Given the description of an element on the screen output the (x, y) to click on. 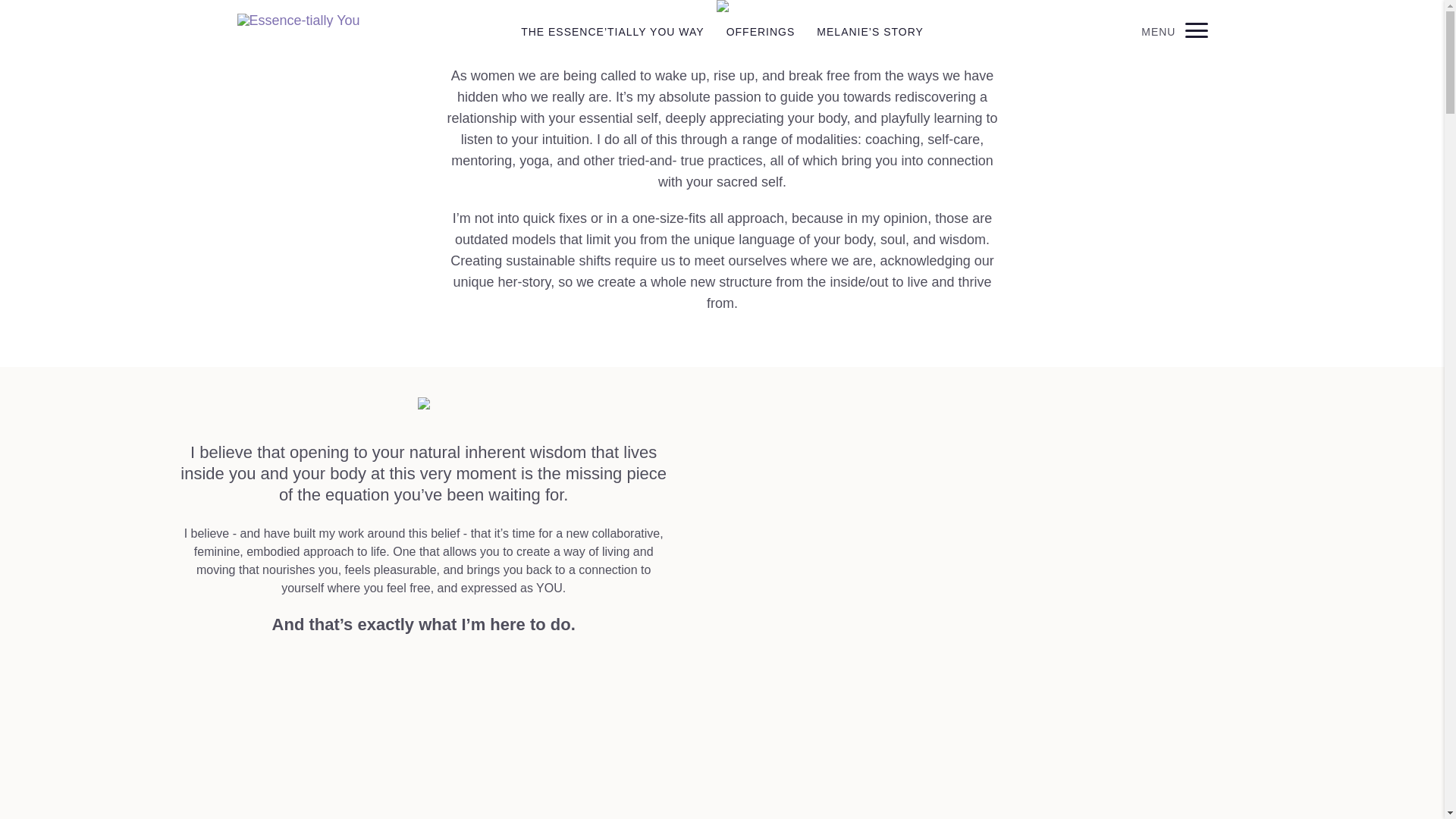
Like me on Facebook! (22, 215)
E-mail Me! (22, 276)
OFFERINGS (760, 31)
MENU (1174, 29)
Follow me on Instagram! (22, 246)
